Given the description of an element on the screen output the (x, y) to click on. 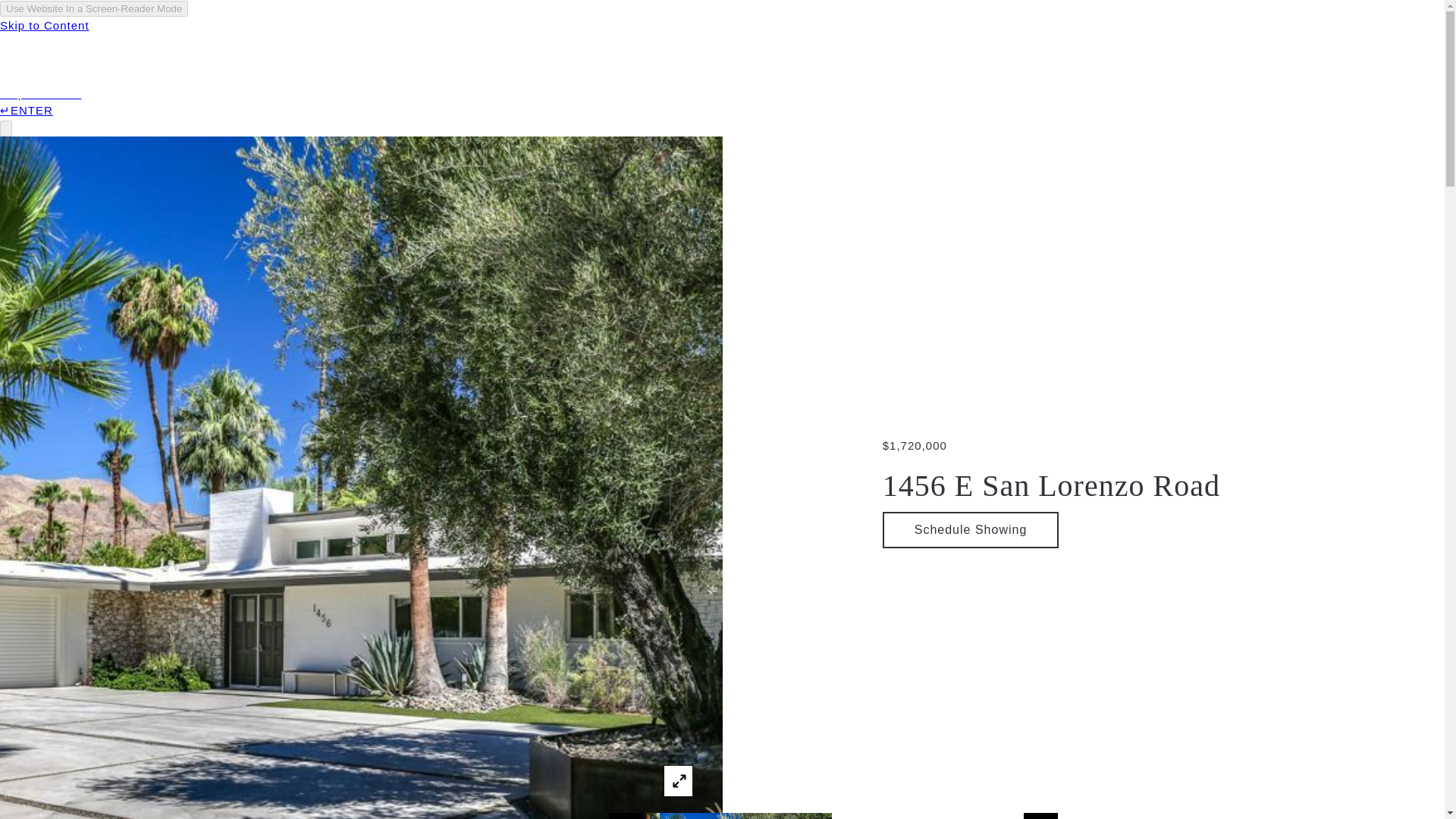
Schedule Showing (970, 529)
